Given the description of an element on the screen output the (x, y) to click on. 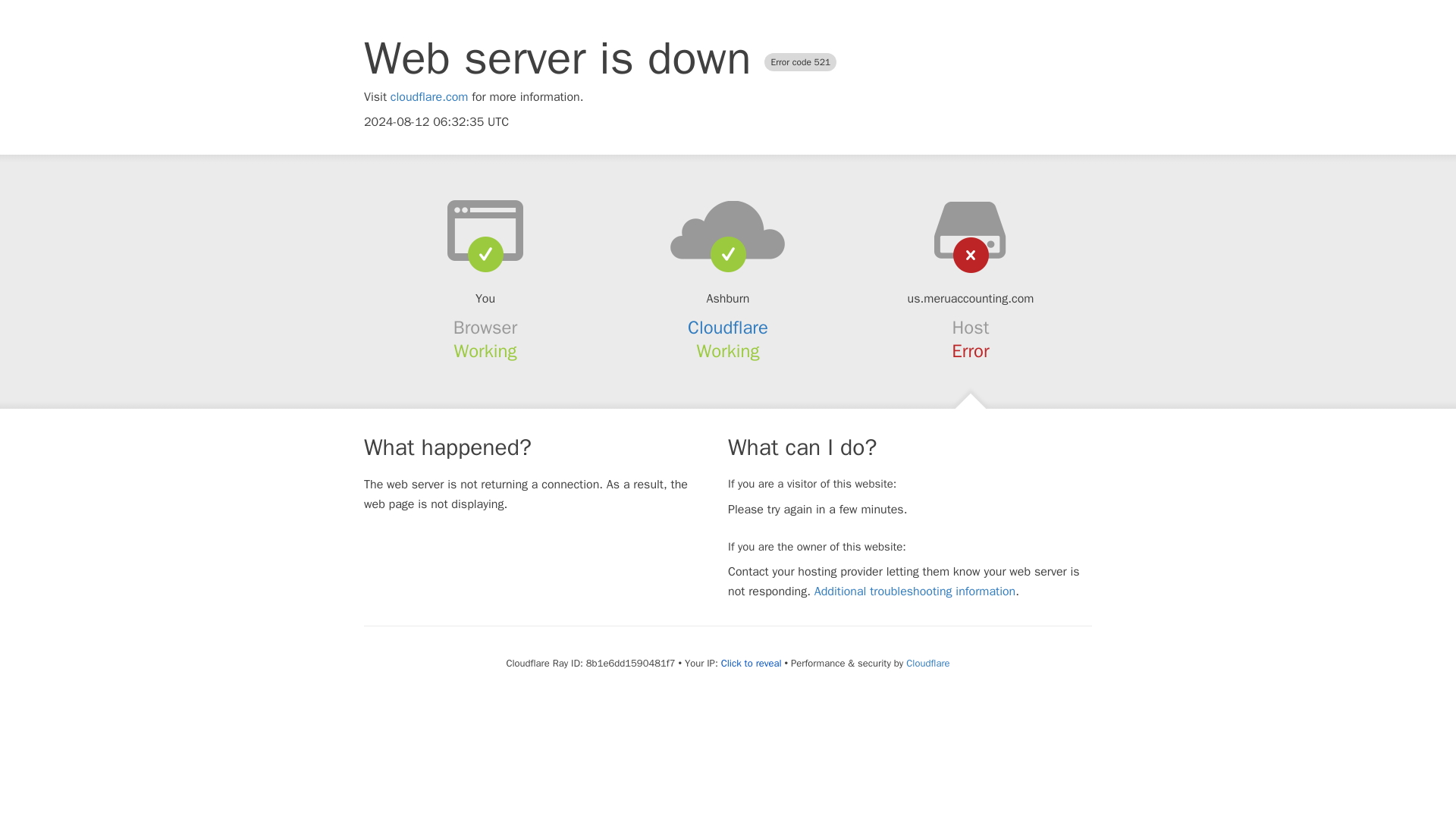
Cloudflare (727, 327)
Click to reveal (750, 663)
cloudflare.com (429, 96)
Additional troubleshooting information (913, 590)
Cloudflare (927, 662)
